Given the description of an element on the screen output the (x, y) to click on. 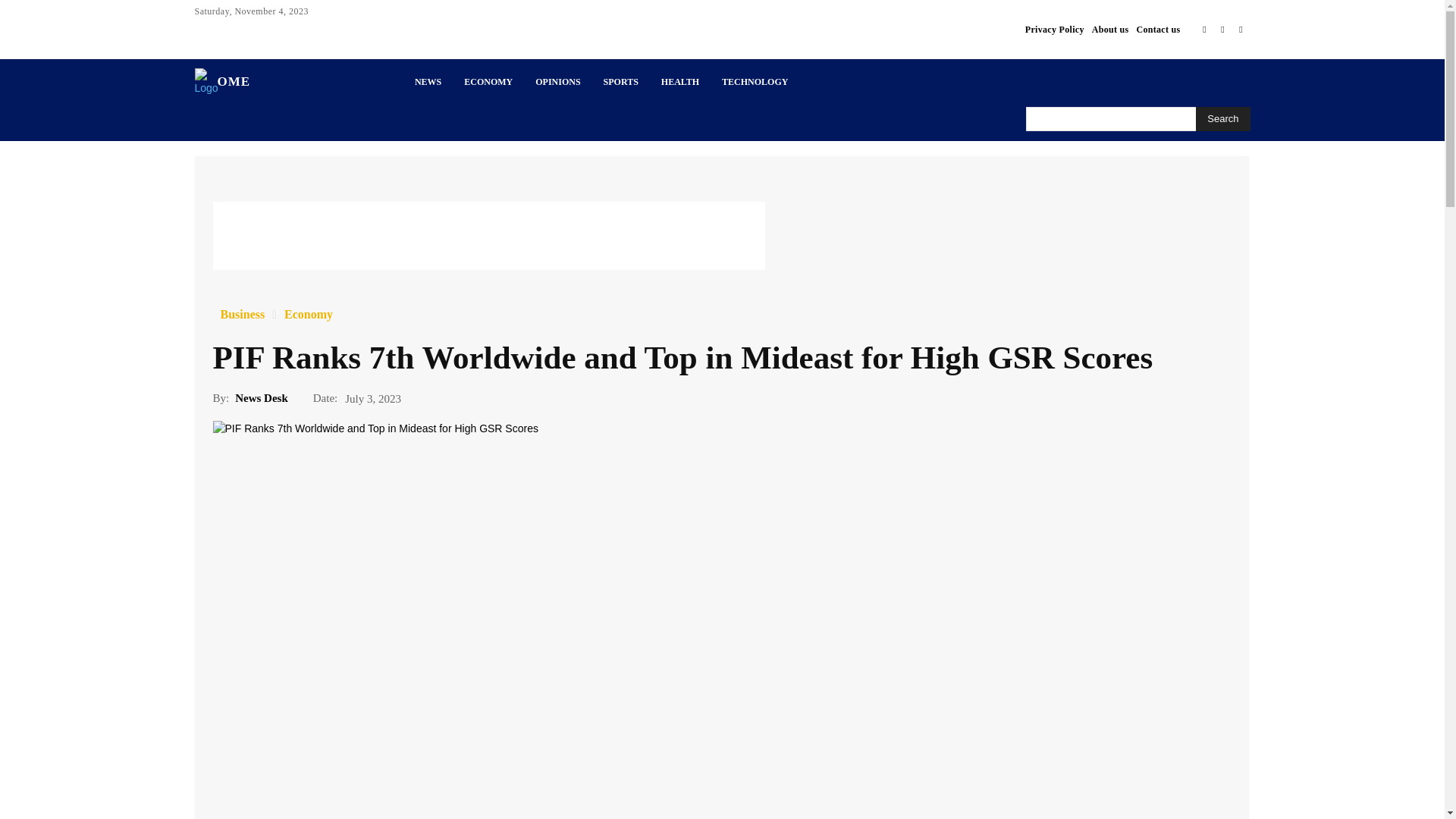
ECONOMY (488, 81)
Search (1222, 119)
Twitter (1221, 29)
HEALTH (679, 81)
OPINIONS (557, 81)
Youtube (1240, 29)
TECHNOLOGY (754, 81)
Economy (308, 314)
SPORTS (620, 81)
Privacy Policy (1054, 29)
Contact us (1157, 29)
NEWS (427, 81)
Facebook (1203, 29)
Business (241, 314)
